Given the description of an element on the screen output the (x, y) to click on. 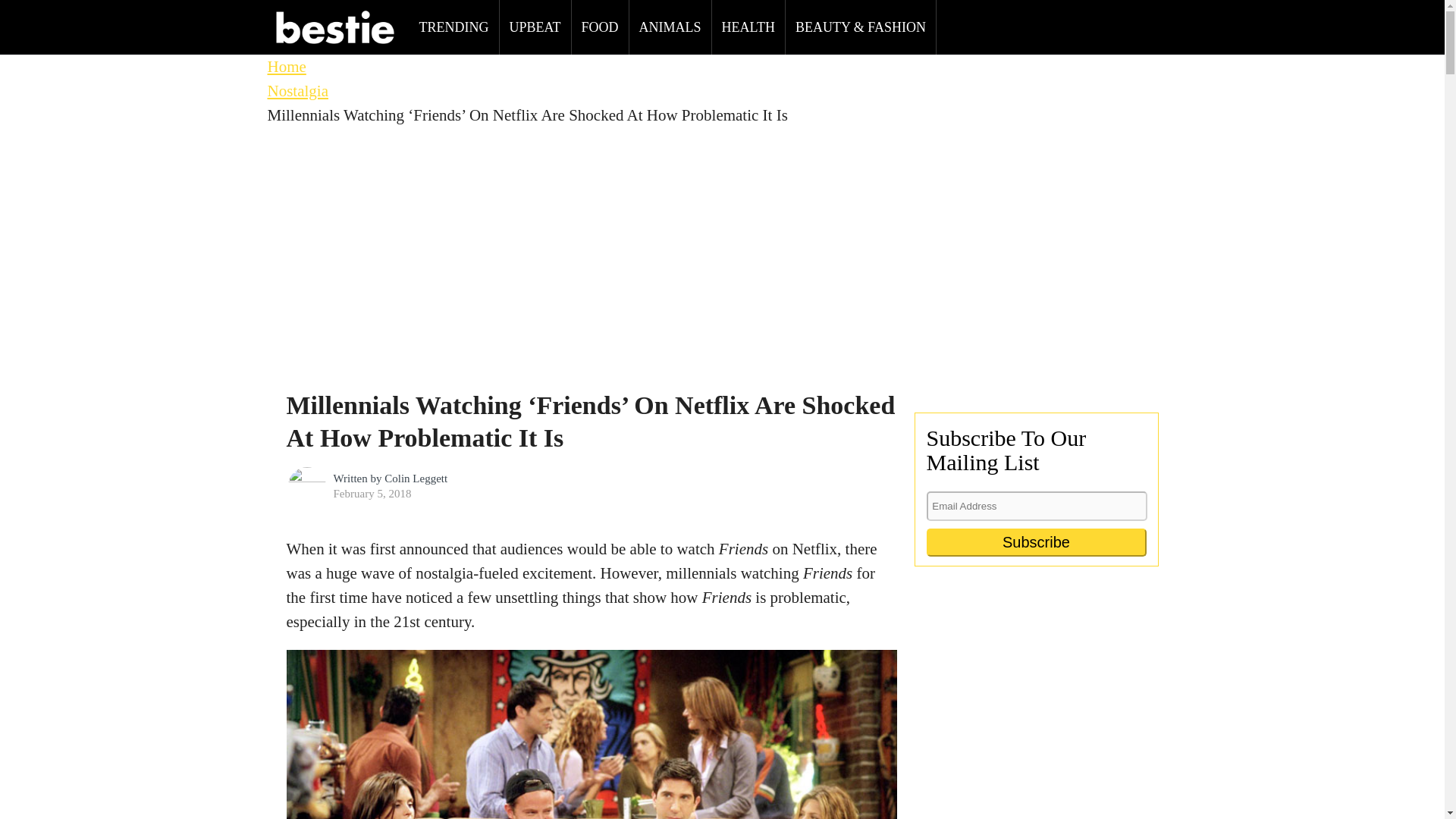
UPBEAT (534, 27)
ANIMALS (669, 27)
TRENDING (454, 27)
FOOD (600, 27)
Subscribe (1036, 542)
HEALTH (747, 27)
Nostalgia (296, 90)
Home (285, 66)
